Given the description of an element on the screen output the (x, y) to click on. 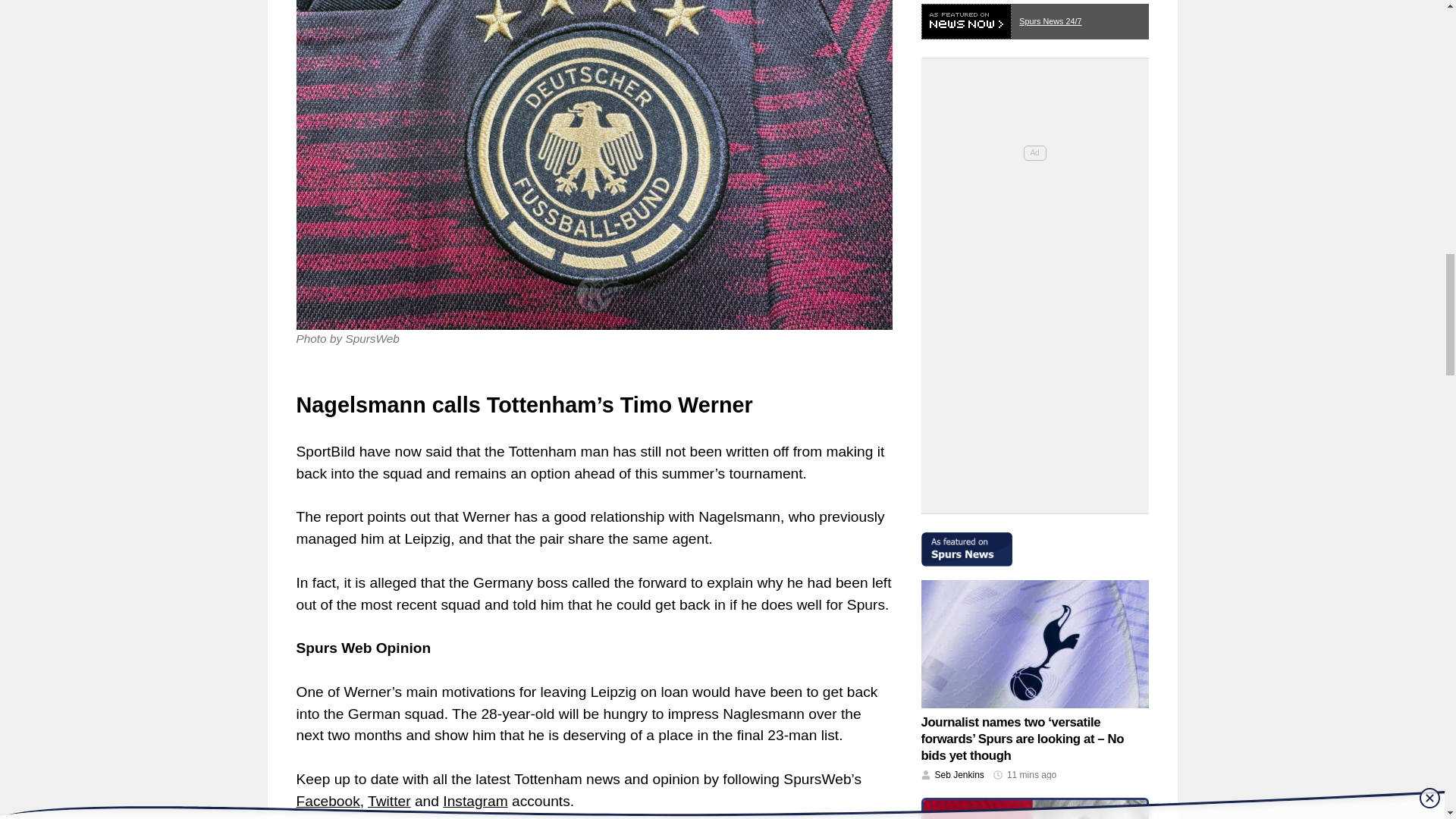
Instagram (474, 801)
Twitter (389, 801)
Facebook (327, 801)
